Given the description of an element on the screen output the (x, y) to click on. 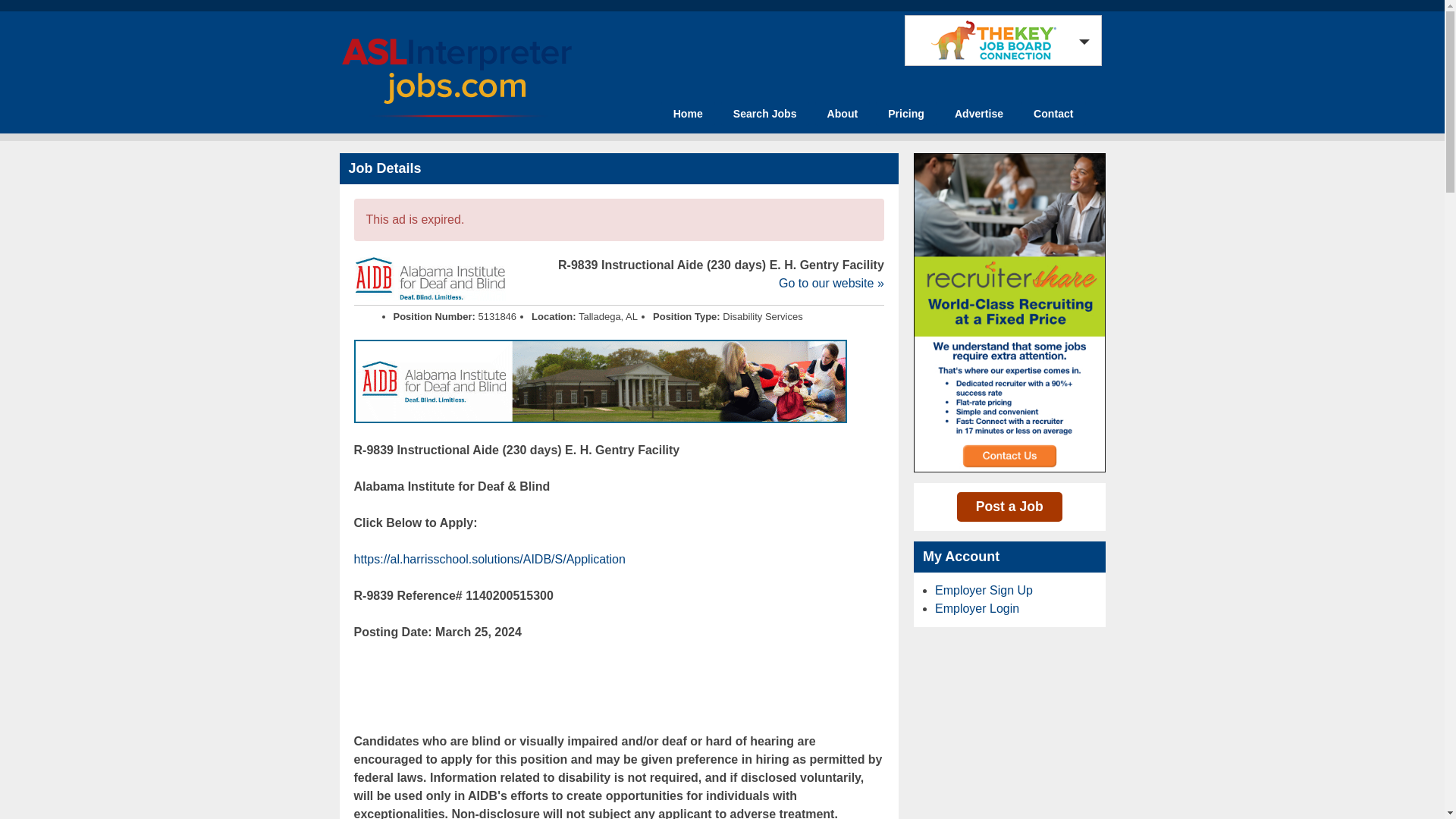
Toggle JobElephant Network menu (998, 40)
